Given the description of an element on the screen output the (x, y) to click on. 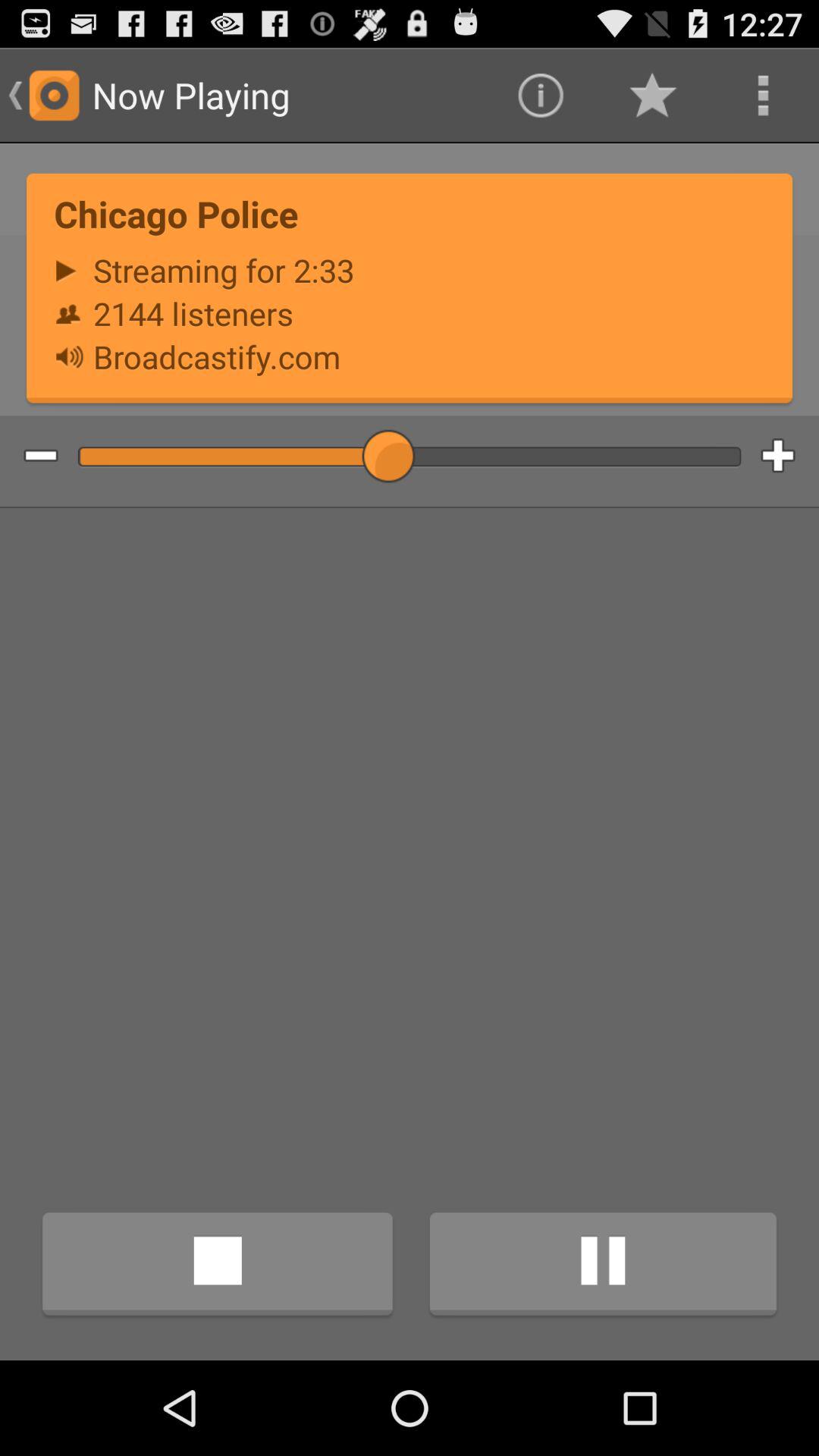
go do add (789, 456)
